Given the description of an element on the screen output the (x, y) to click on. 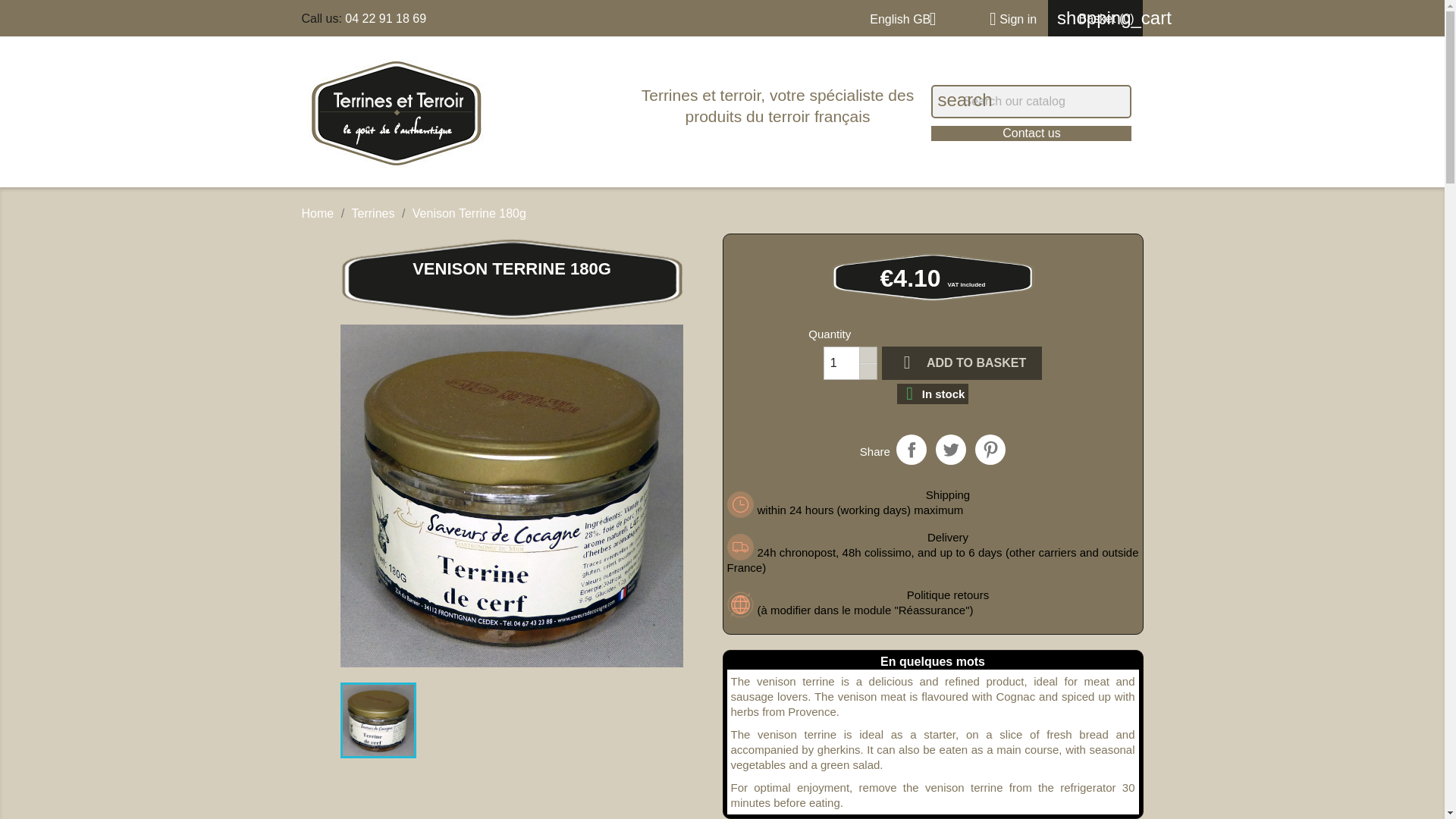
Pinterest (990, 449)
Venison Terrine 180g (378, 720)
Terrines (373, 213)
Pinterest (990, 449)
Share (911, 449)
Share (911, 449)
Home (317, 213)
Log in to your customer account (1007, 19)
1 (842, 363)
Tweet (951, 449)
Venison Terrine 180g (511, 495)
Contact us (1031, 133)
04 22 91 18 69 (385, 18)
Tweet (951, 449)
